Given the description of an element on the screen output the (x, y) to click on. 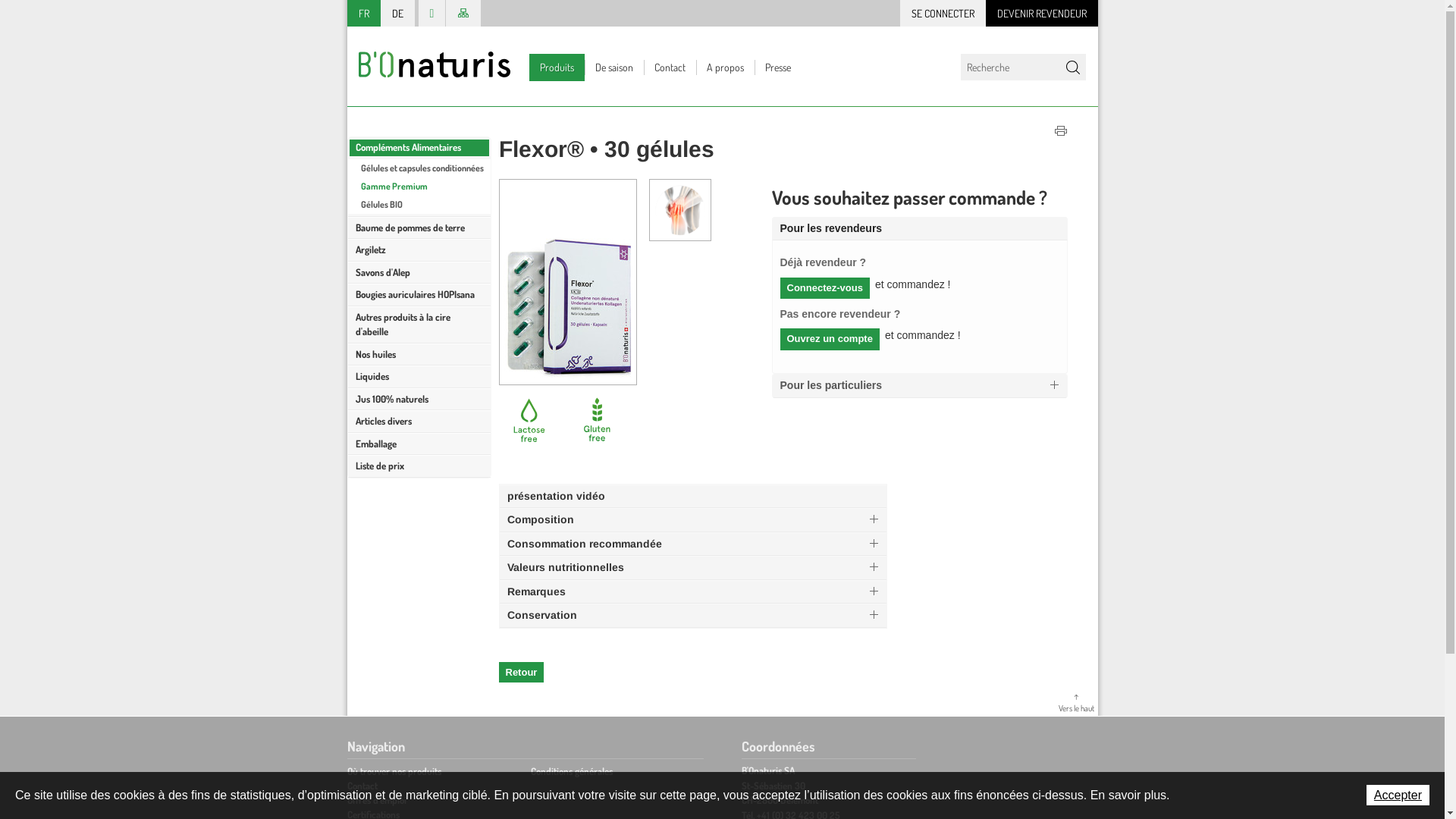
Liquides Element type: text (418, 376)
Presse Element type: text (776, 67)
Gamme Premium Element type: text (418, 185)
Savons d'Alep Element type: text (418, 271)
Argiletz Element type: text (418, 249)
Articles divers Element type: text (418, 421)
Print Element type: text (1060, 132)
Liste de prix Element type: text (418, 466)
DEVENIR REVENDEUR Element type: text (1041, 13)
Bougies auriculaires HOPIsana Element type: text (418, 294)
Accepter Element type: text (1397, 794)
Emballage Element type: text (418, 443)
Pour les particuliers Element type: text (918, 385)
FR Element type: text (363, 13)
Contact Element type: text (669, 67)
Offres d'emploi Element type: text (376, 799)
Produits Element type: text (556, 67)
Baume de pommes de terre Element type: text (418, 227)
Contact Element type: text (362, 785)
De saison Element type: text (613, 67)
A propos Element type: text (725, 67)
SE CONNECTER Element type: text (942, 13)
Pour les revendeurs Element type: text (918, 228)
Connectez-vous Element type: text (824, 288)
Nos huiles Element type: text (418, 353)
Rechercher Element type: text (1071, 66)
Jus 100% naturels Element type: text (418, 399)
DE Element type: text (397, 13)
Retour Element type: text (521, 672)
Description de l'image Element type: hover (680, 236)
Ouvrez un compte Element type: text (828, 339)
